Given the description of an element on the screen output the (x, y) to click on. 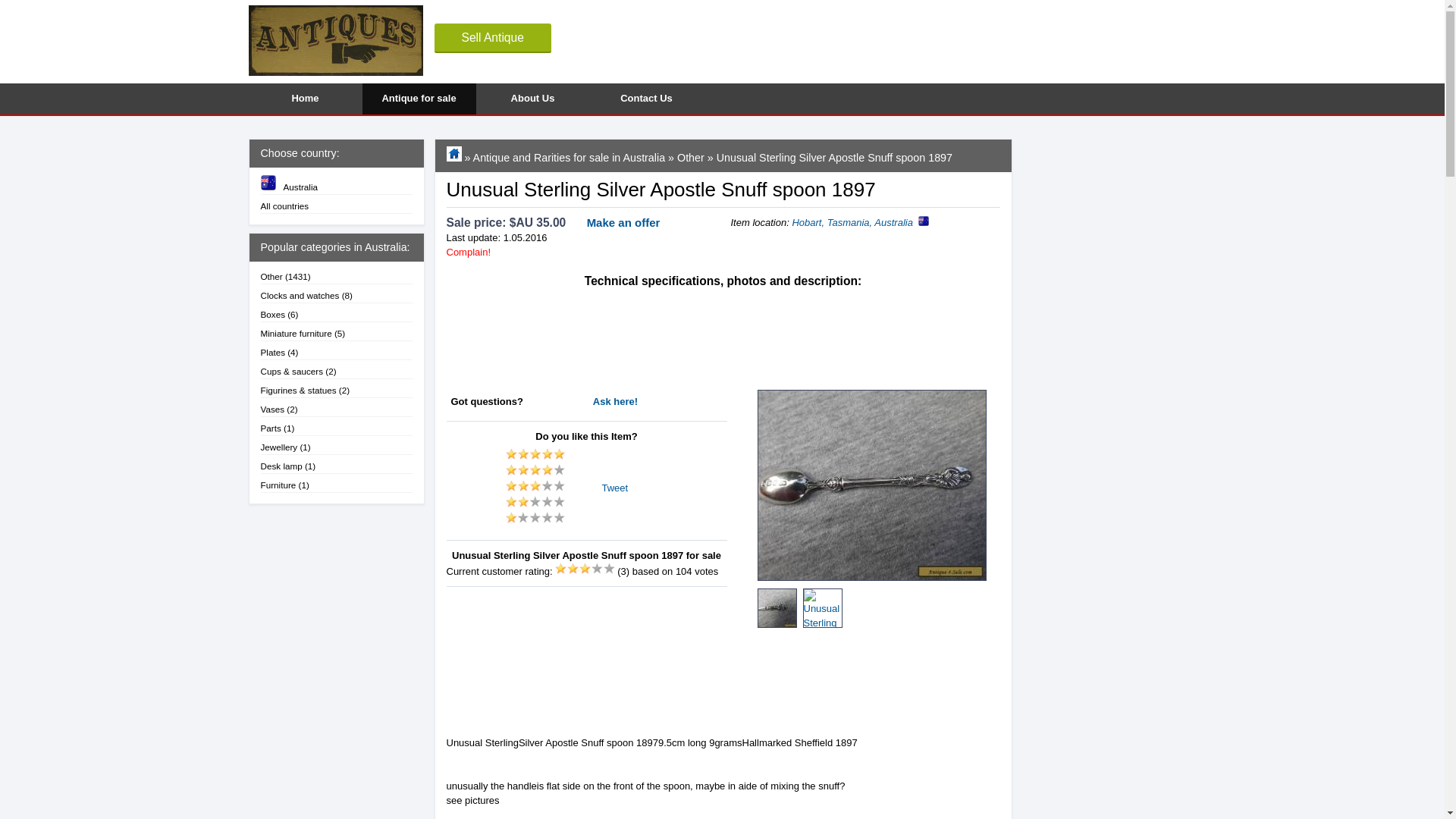
Desk lamp (281, 465)
Furniture (278, 484)
Miniature furniture (295, 333)
Make an offer (617, 222)
Other (690, 157)
Complain! (467, 251)
Plates (272, 352)
About Us (532, 98)
Boxes (272, 314)
Clocks and watches (299, 295)
